Given the description of an element on the screen output the (x, y) to click on. 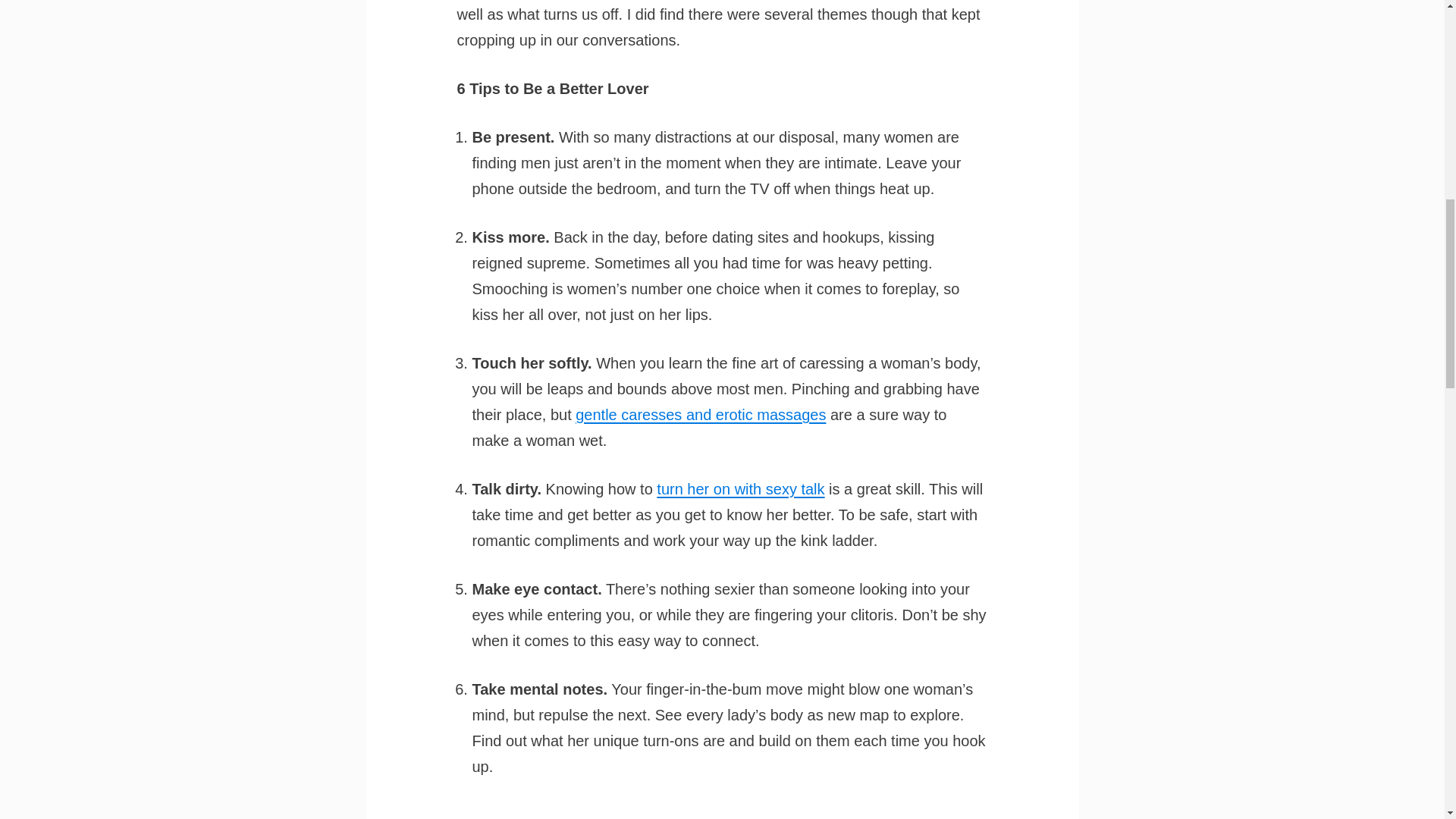
gentle caresses and erotic massages (700, 414)
turn her on with sexy talk (740, 488)
